Given the description of an element on the screen output the (x, y) to click on. 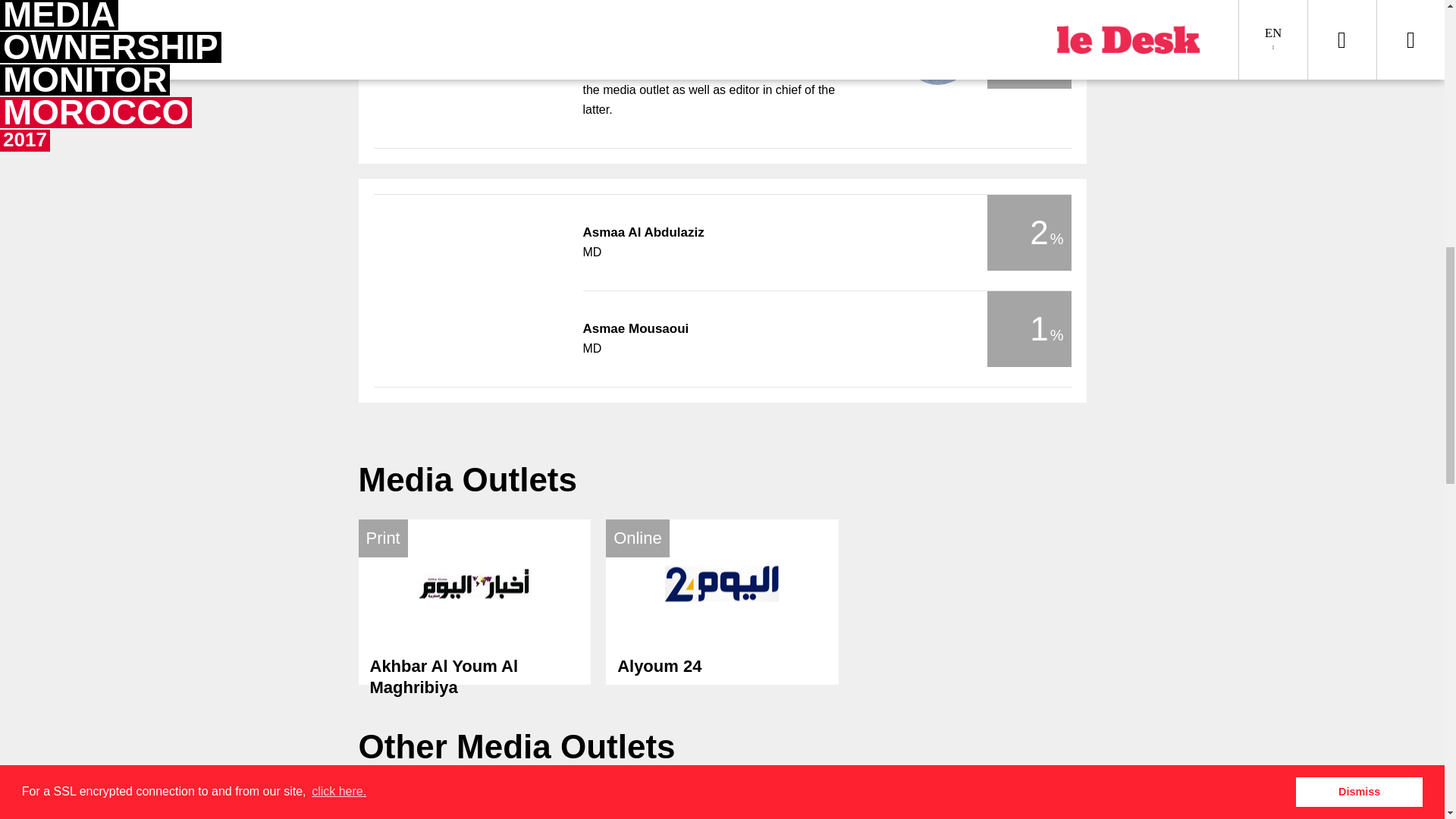
Taoufik Bouachrine (721, 601)
